Given the description of an element on the screen output the (x, y) to click on. 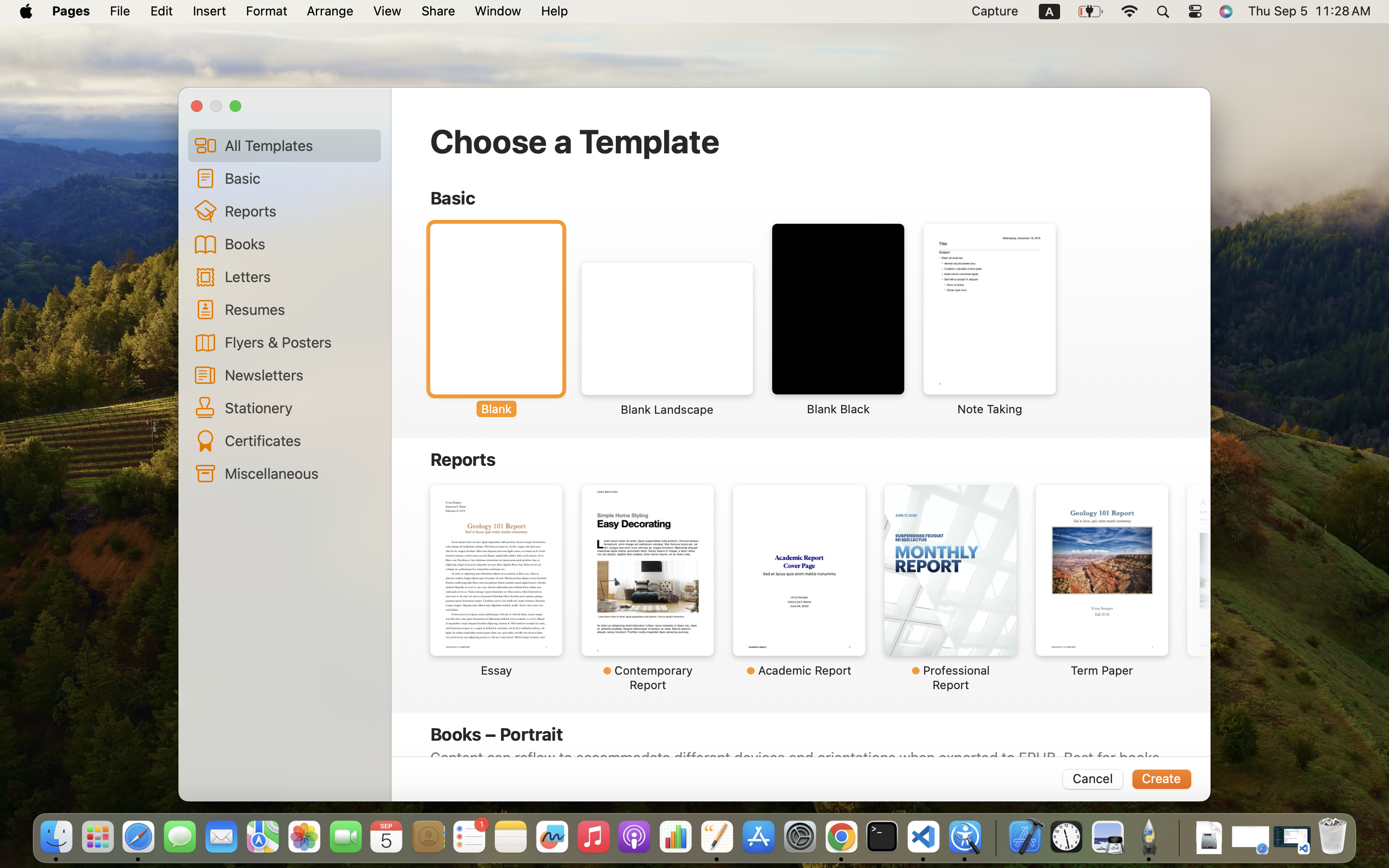
Stationery Element type: AXStaticText (298, 407)
Certificates Element type: AXStaticText (298, 440)
Books Element type: AXStaticText (298, 243)
Reports Element type: AXStaticText (298, 210)
